Given the description of an element on the screen output the (x, y) to click on. 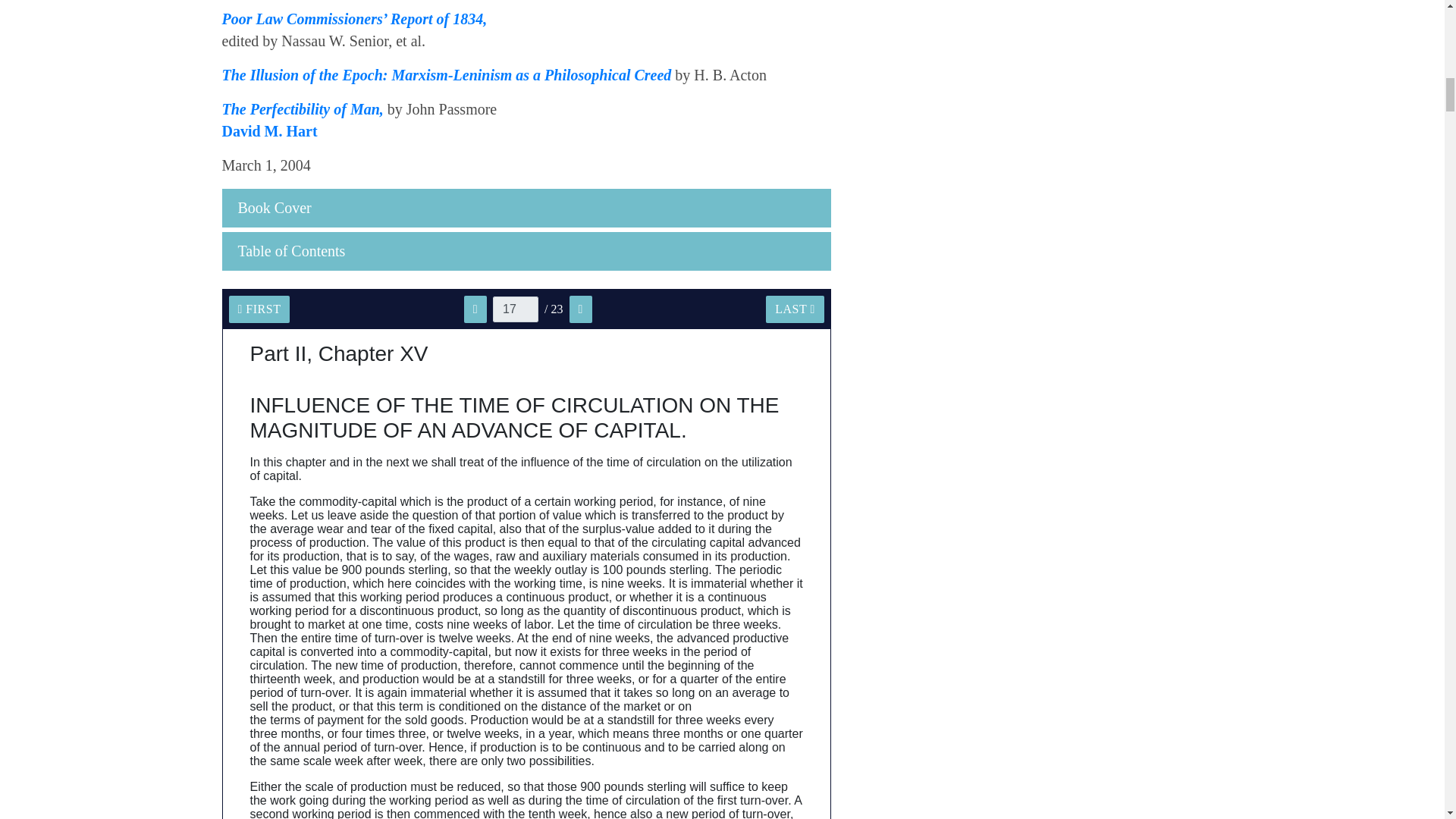
17 (515, 309)
